Given the description of an element on the screen output the (x, y) to click on. 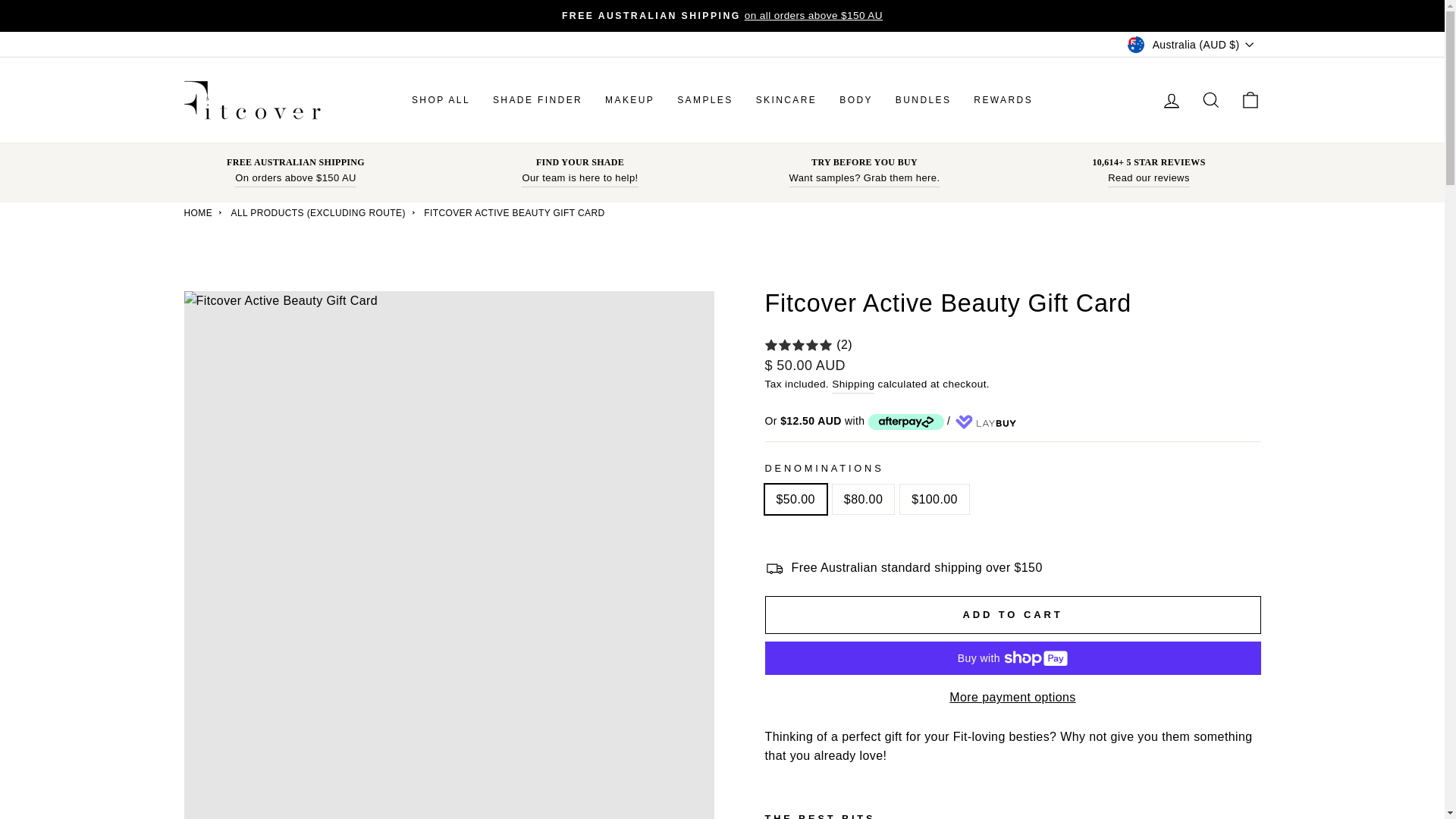
SAMPLES (864, 178)
REVIEWS (1148, 178)
Shipping Information (295, 178)
Perfect Match (579, 178)
